Given the description of an element on the screen output the (x, y) to click on. 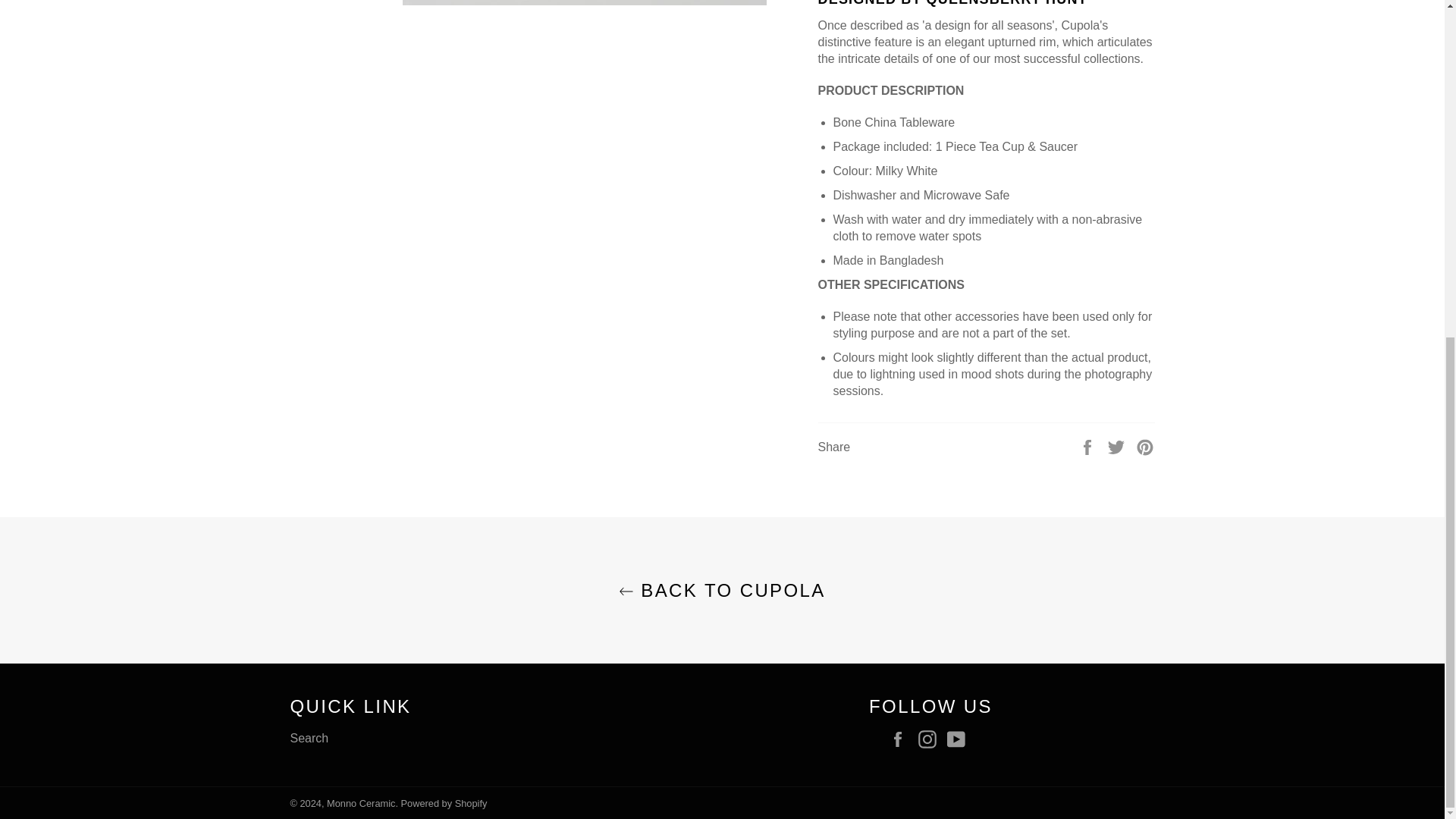
Monno Ceramic on Instagram (930, 739)
Monno Ceramic on YouTube (959, 739)
Pin on Pinterest (1144, 445)
Tweet on Twitter (1117, 445)
Monno Ceramic on Facebook (901, 739)
Share on Facebook (1088, 445)
